Given the description of an element on the screen output the (x, y) to click on. 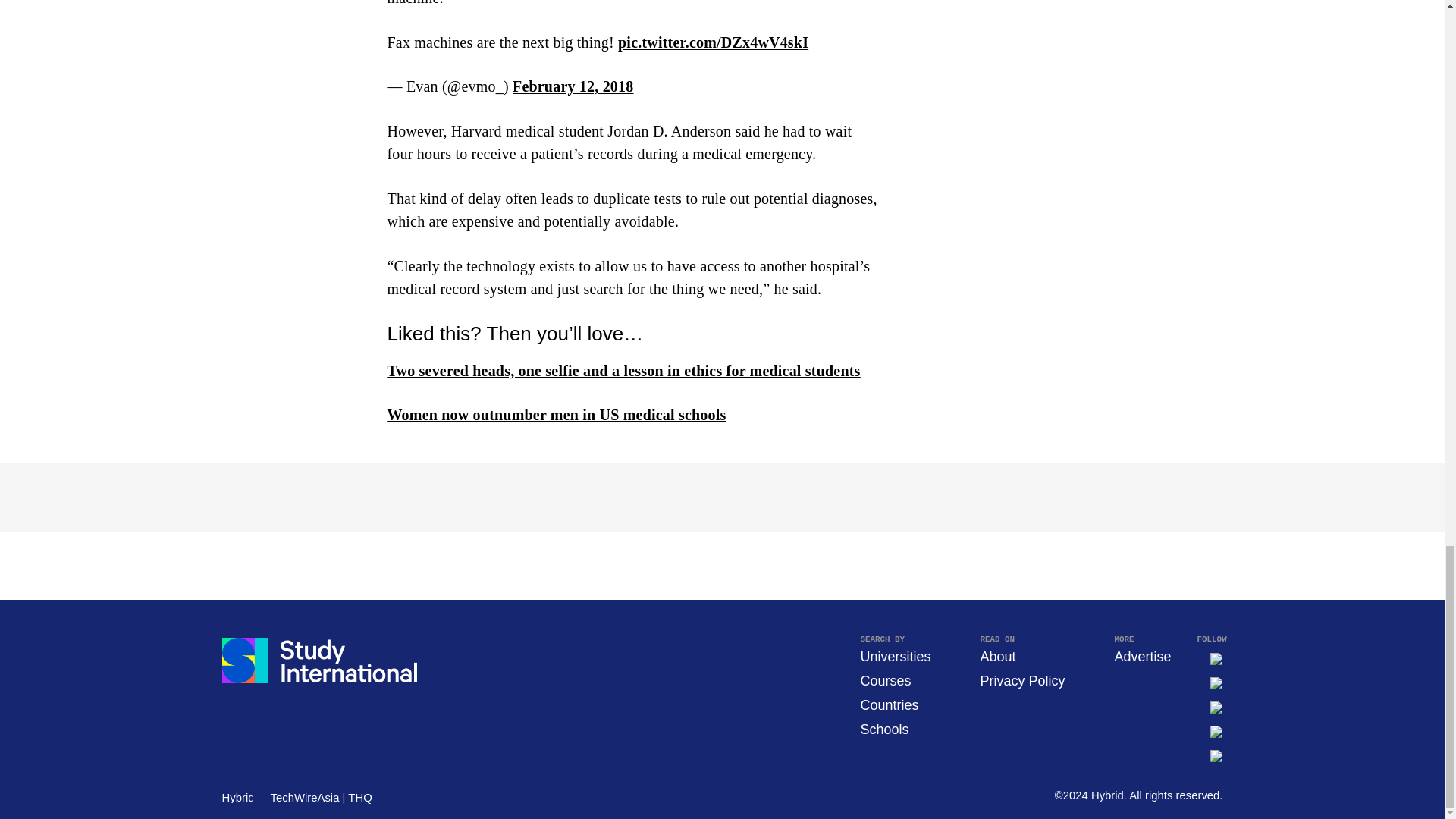
February 12, 2018 (572, 86)
Women now outnumber men in US medical schools (556, 414)
Universities (895, 656)
